Given the description of an element on the screen output the (x, y) to click on. 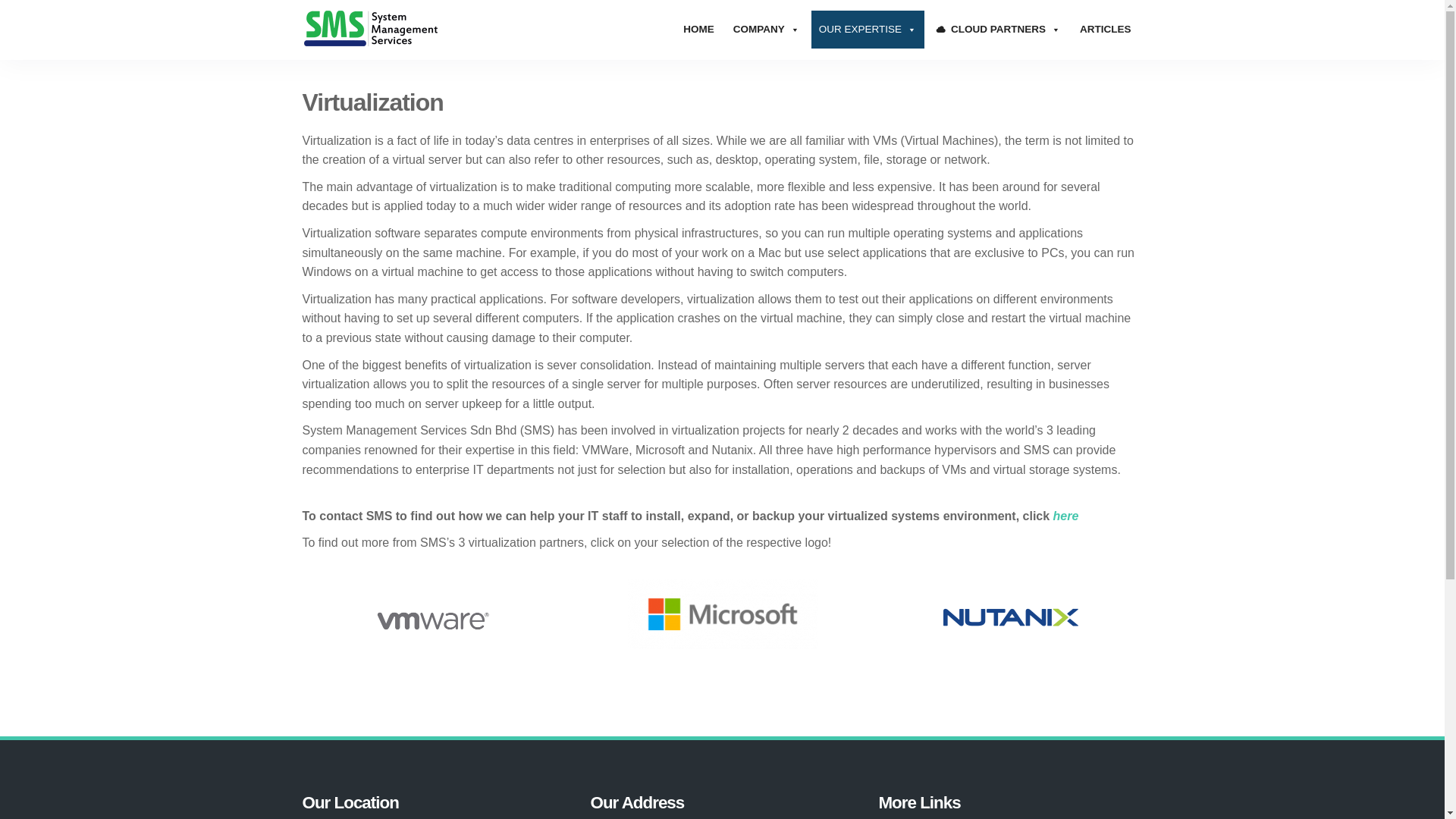
CLOUD PARTNERS (998, 29)
HOME (698, 29)
COMPANY (766, 29)
OUR EXPERTISE (867, 29)
ARTICLES (1104, 29)
